Given the description of an element on the screen output the (x, y) to click on. 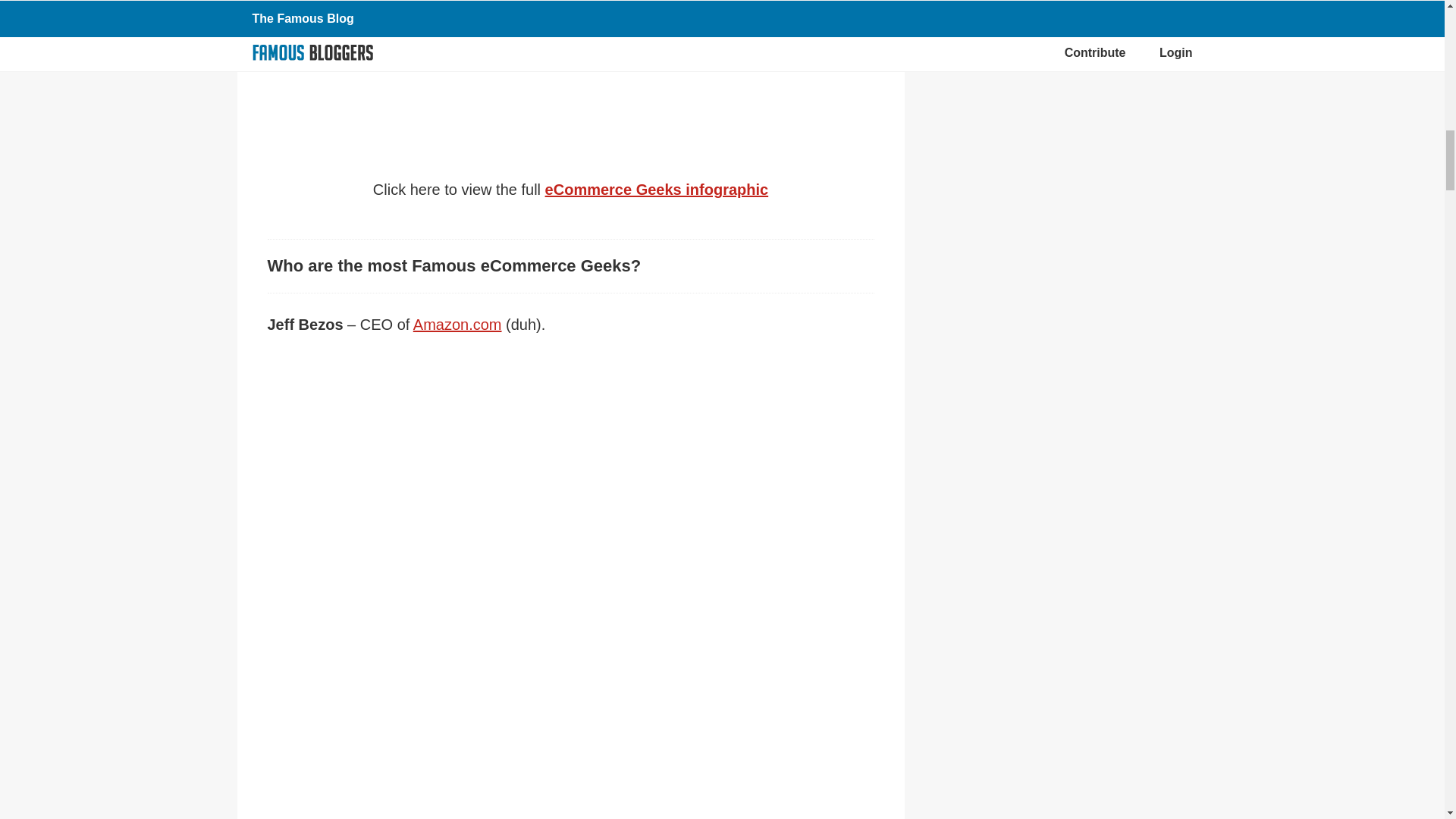
eCommerce Geeks infographic (656, 189)
Amazon.com (457, 324)
famous ecommerce geeks (569, 61)
eCommerce Geeks infographic (656, 189)
Amazon.com (457, 324)
